Given the description of an element on the screen output the (x, y) to click on. 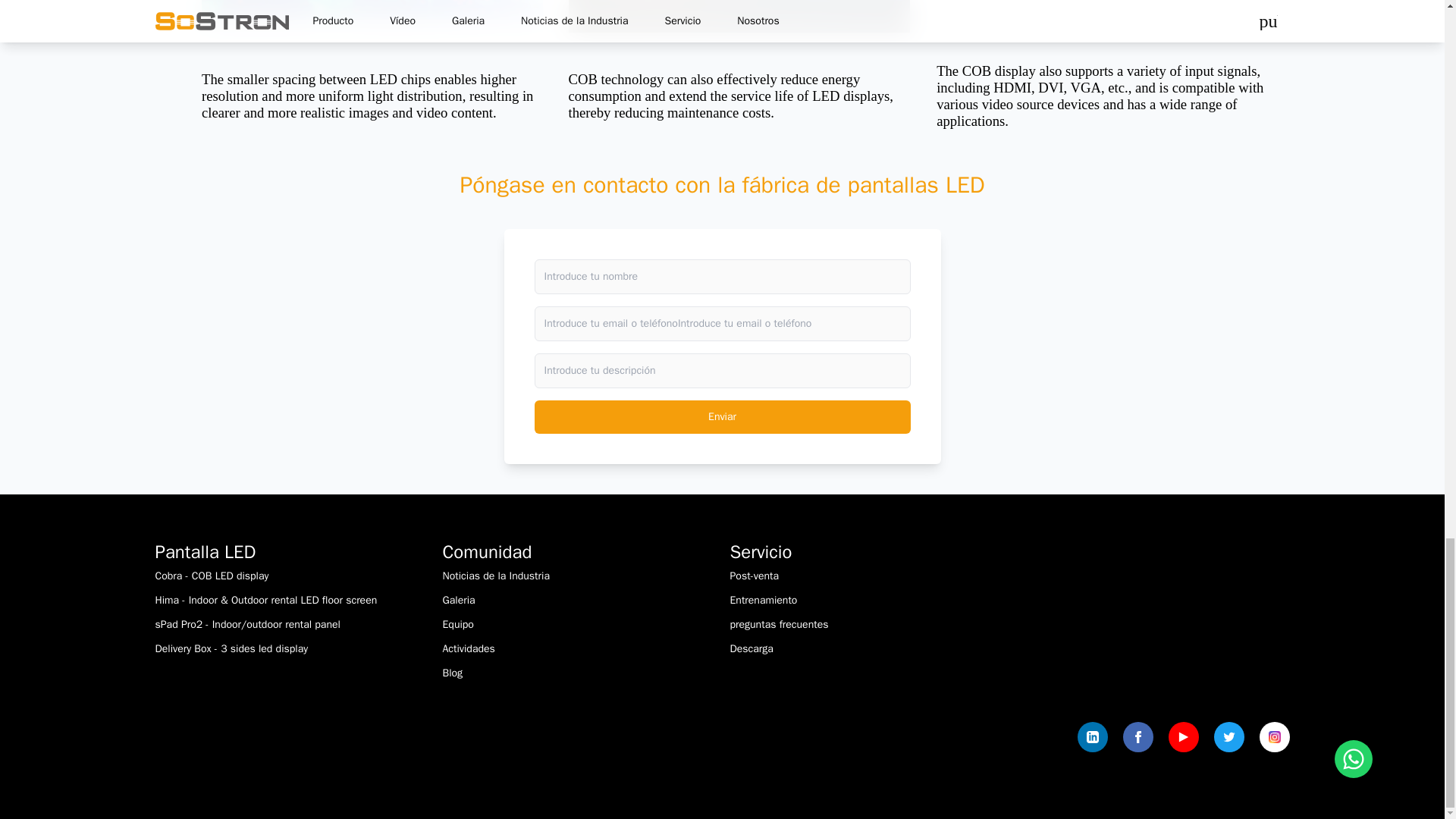
Cobra - COB LED display (210, 575)
Actividades (468, 648)
Equipo (458, 624)
Post-venta (753, 575)
facebook (1137, 736)
Enviar (722, 417)
youtube (1182, 736)
Noticias de la Industria (496, 575)
Entrenamiento (762, 599)
Noticias de la Industria (496, 575)
